Given the description of an element on the screen output the (x, y) to click on. 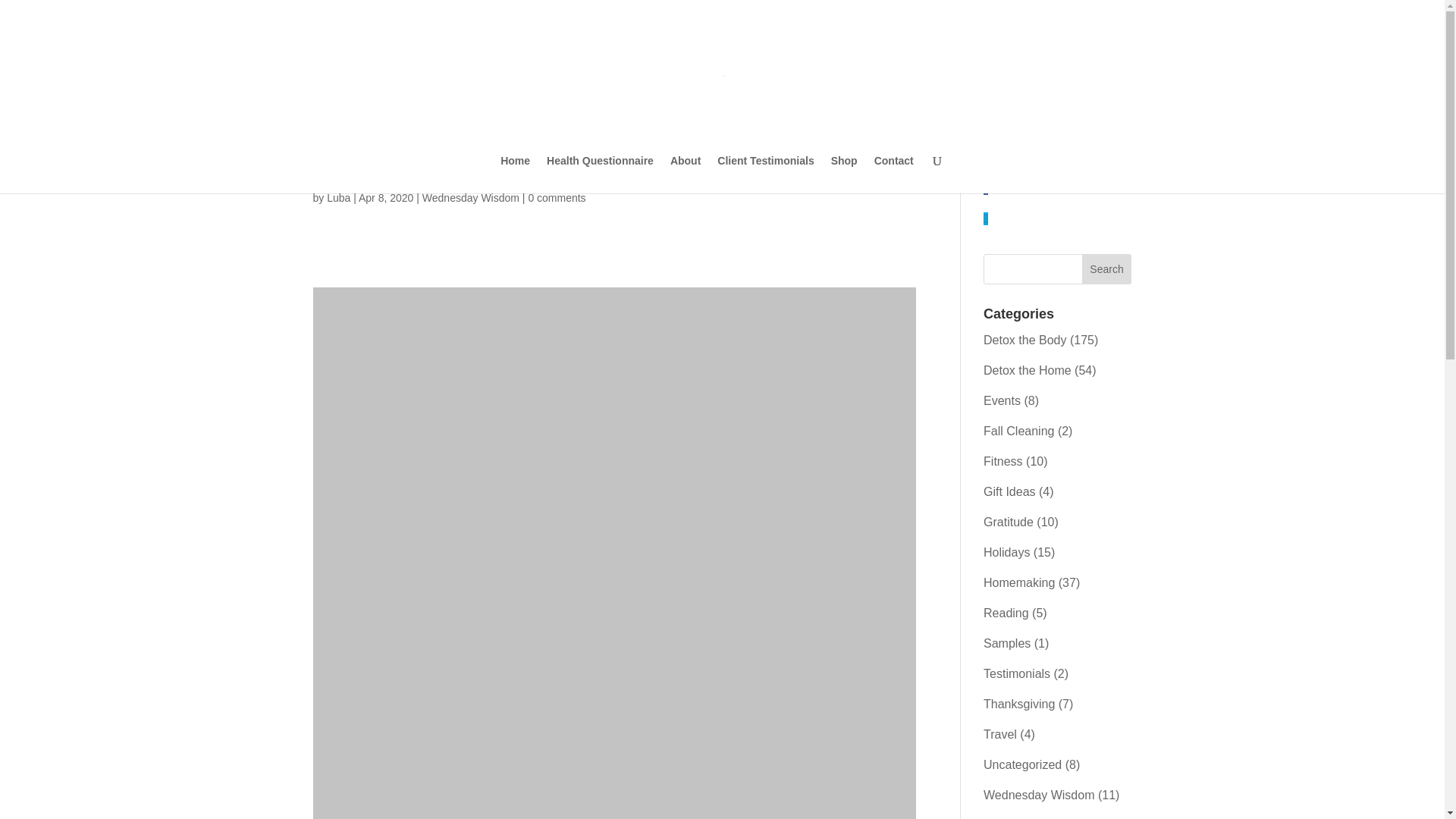
Health Questionnaire (600, 174)
Holidays (1006, 552)
Detox the Home (1027, 369)
Wednesday Wisdom (470, 197)
Fitness (1003, 461)
0 comments (556, 197)
Gift Ideas (1009, 491)
Reading (1006, 612)
Homemaking (1019, 582)
Travel (1000, 734)
